Given the description of an element on the screen output the (x, y) to click on. 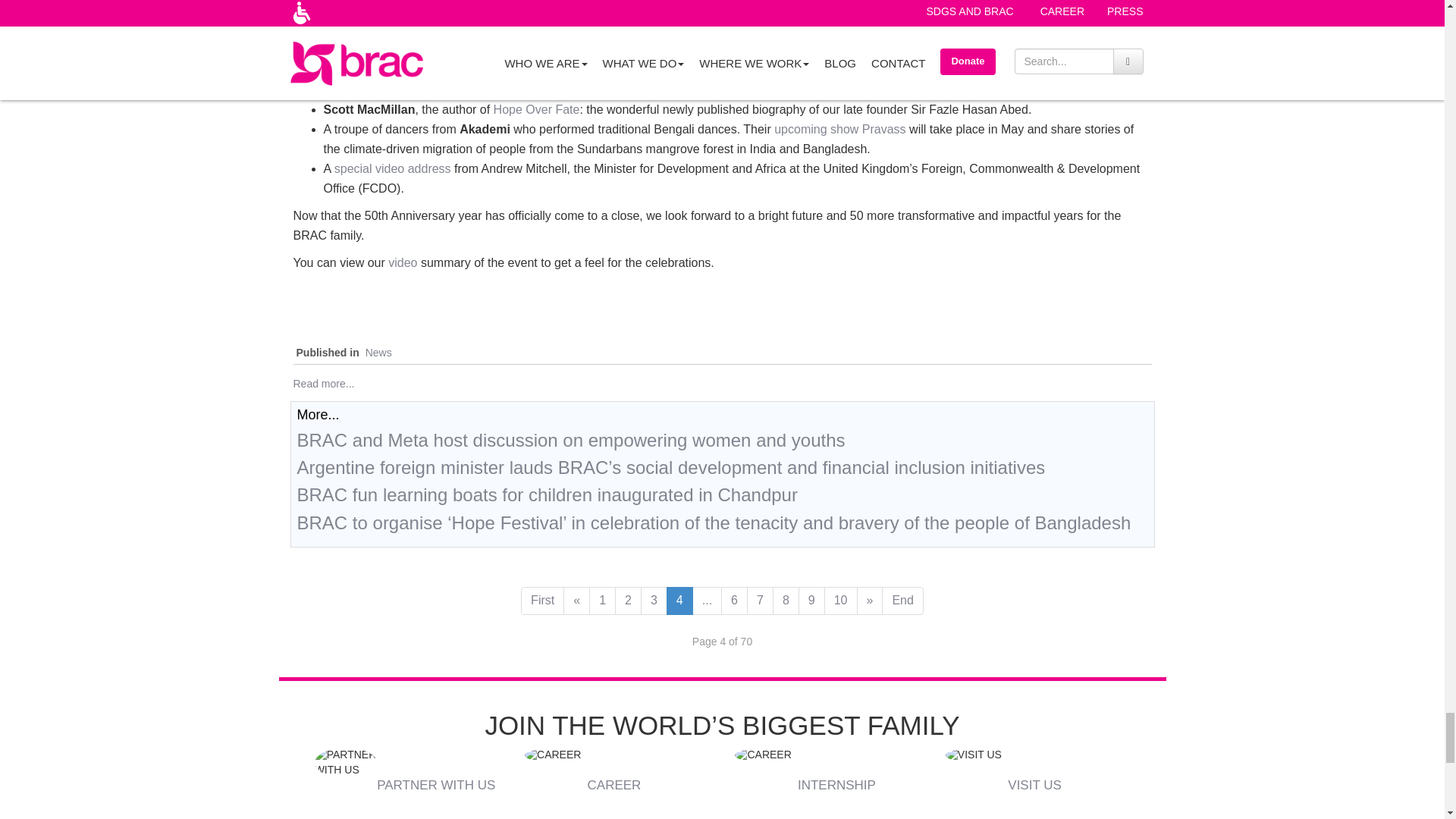
6 (734, 601)
1 (602, 601)
9 (811, 601)
7 (759, 601)
3 (653, 601)
End (902, 601)
Start (542, 601)
Prev (576, 601)
10 (840, 601)
Next (870, 601)
5 (707, 601)
8 (786, 601)
2 (628, 601)
